Given the description of an element on the screen output the (x, y) to click on. 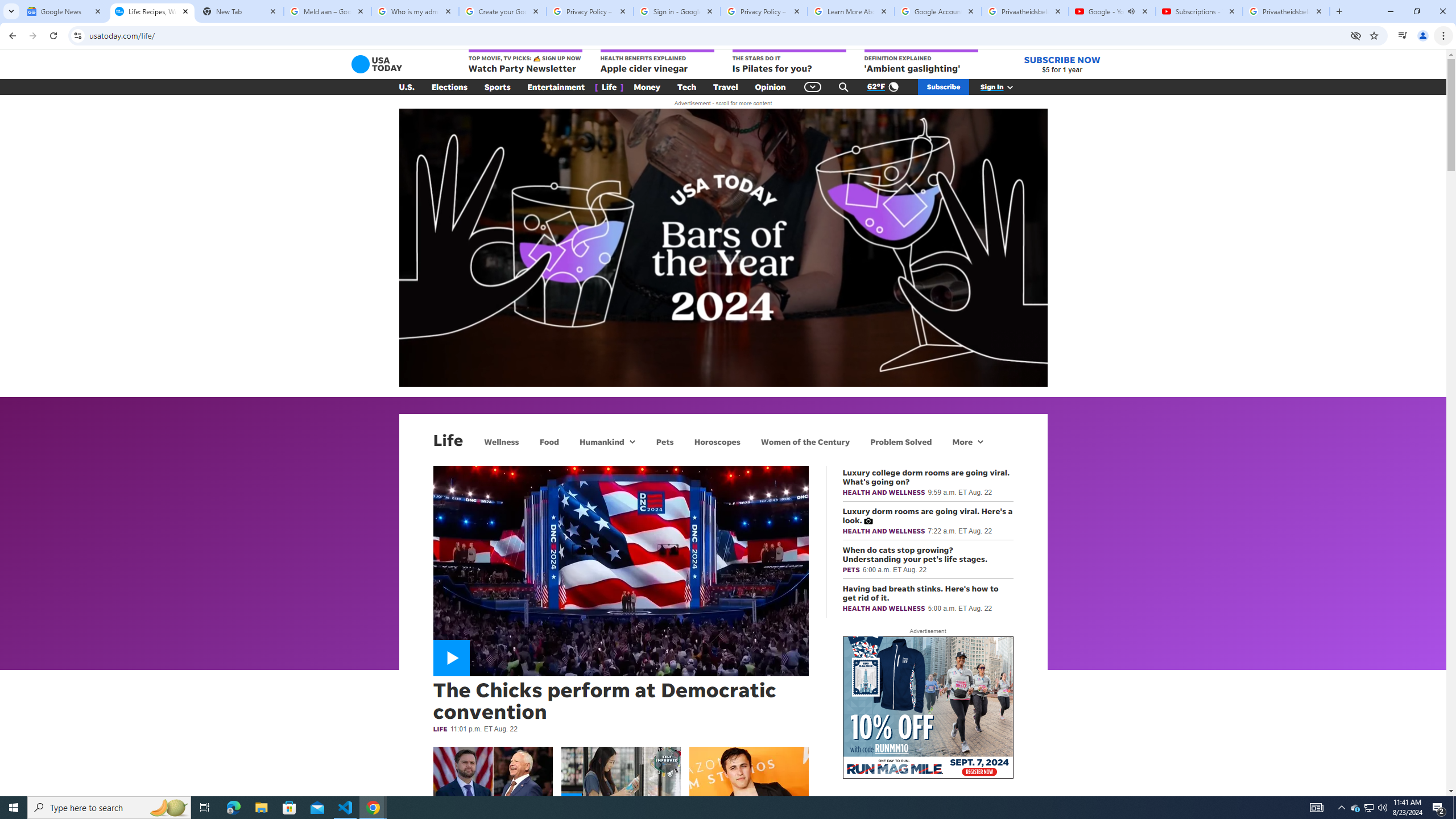
U.S. (406, 87)
Google News (64, 11)
Create your Google Account (502, 11)
More Humankind navigation (631, 441)
Problem Solved (901, 441)
Money (646, 87)
Entertainment (556, 87)
[ Life ] (609, 87)
Pets (664, 441)
